Given the description of an element on the screen output the (x, y) to click on. 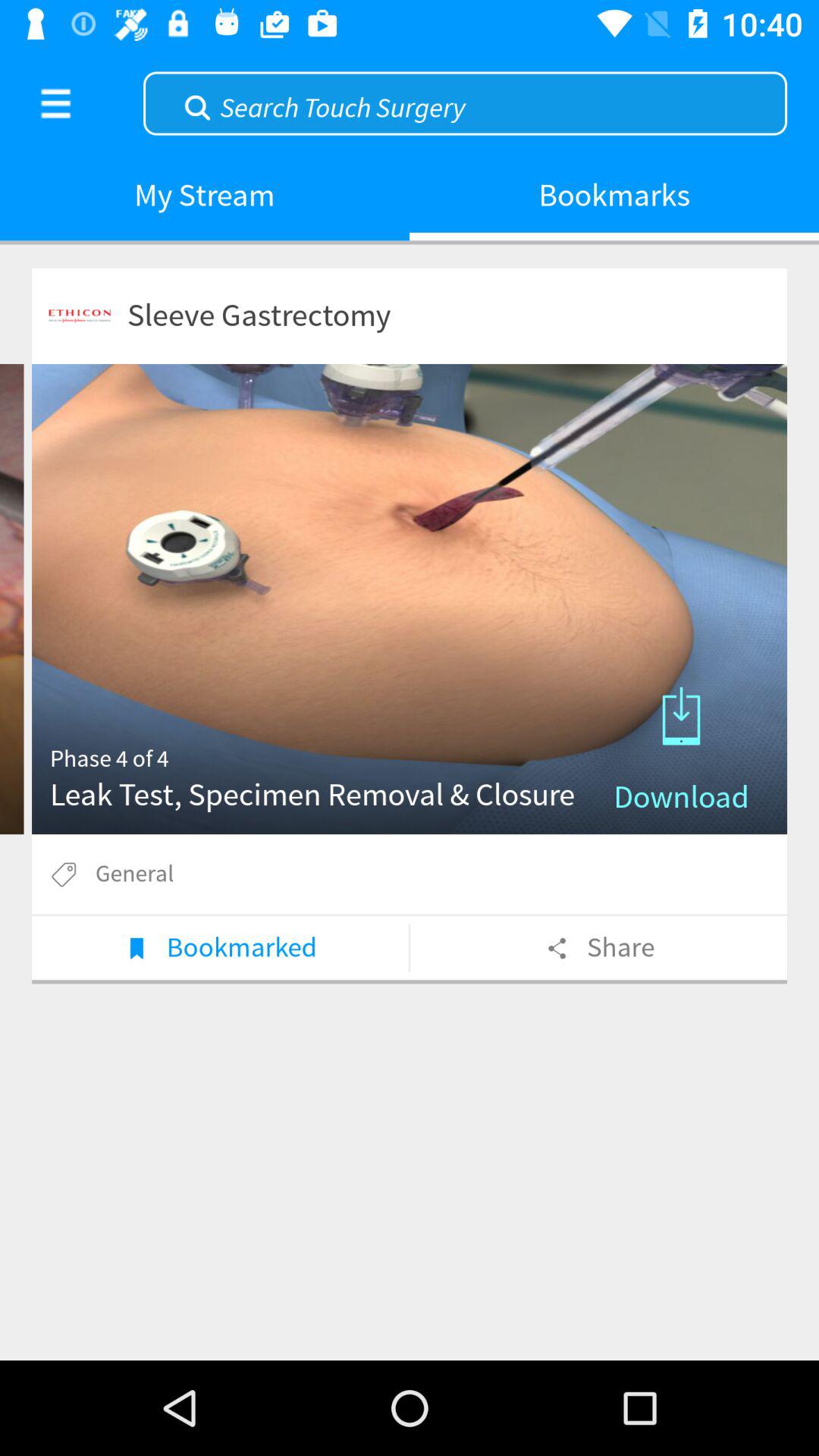
search function (465, 102)
